Given the description of an element on the screen output the (x, y) to click on. 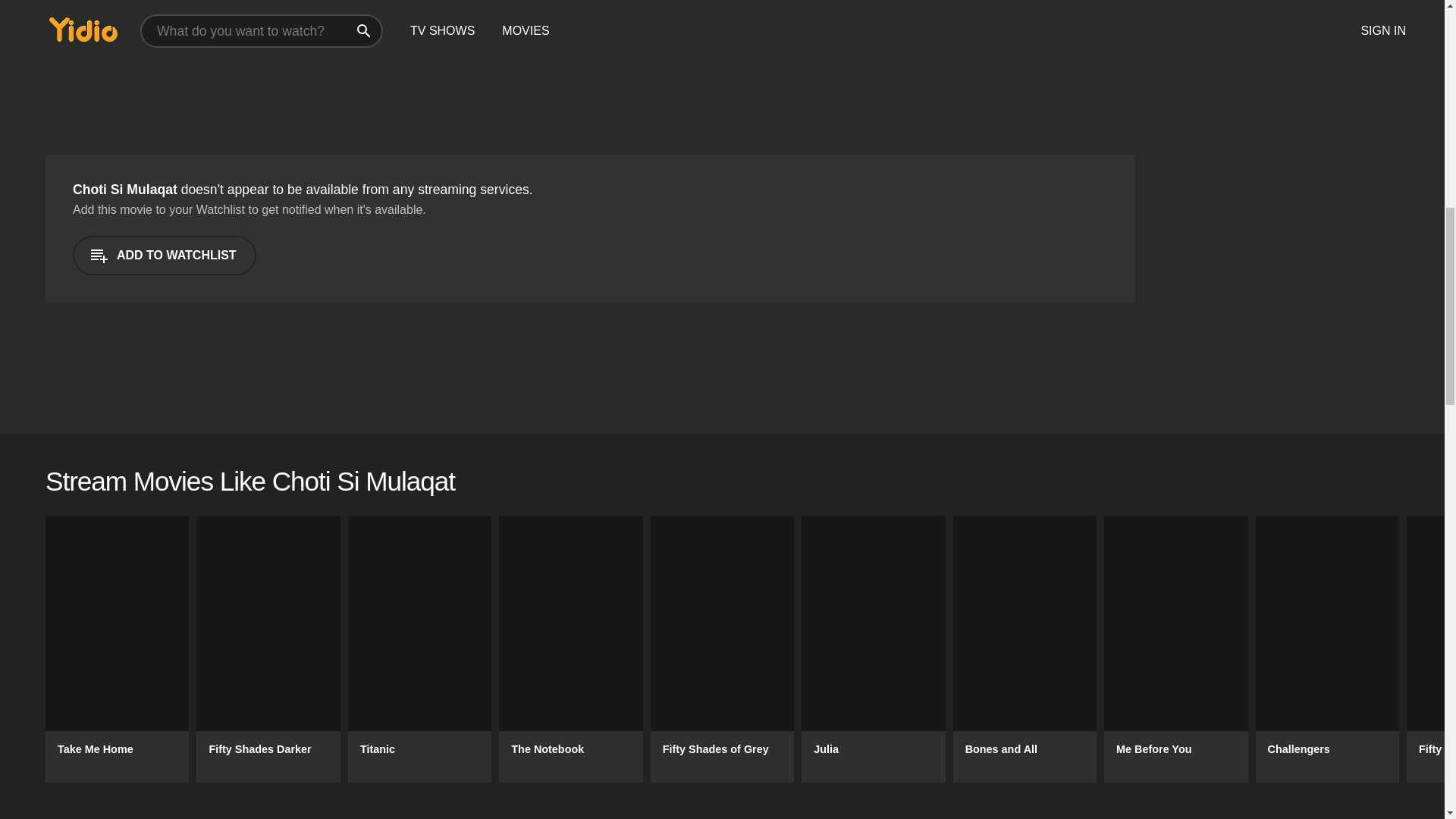
ADD TO WATCHLIST (164, 255)
Advertisement (254, 63)
